Given the description of an element on the screen output the (x, y) to click on. 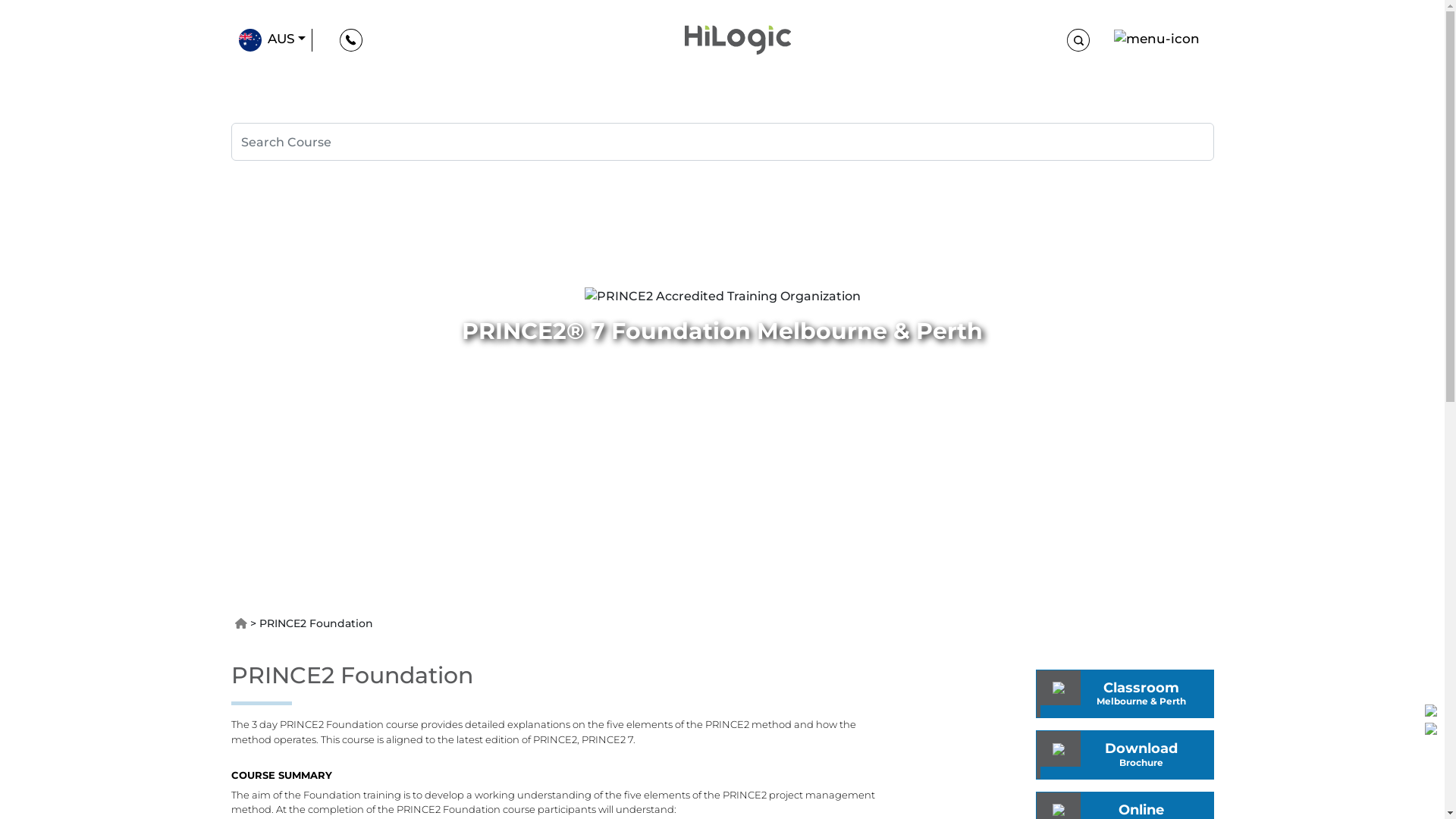
Home Element type: hover (241, 623)
Classroom
Melbourne & Perth Element type: text (1124, 693)
Download
Brochure Element type: text (1193, 761)
Search Element type: hover (721, 141)
AUS Element type: text (271, 39)
